Given the description of an element on the screen output the (x, y) to click on. 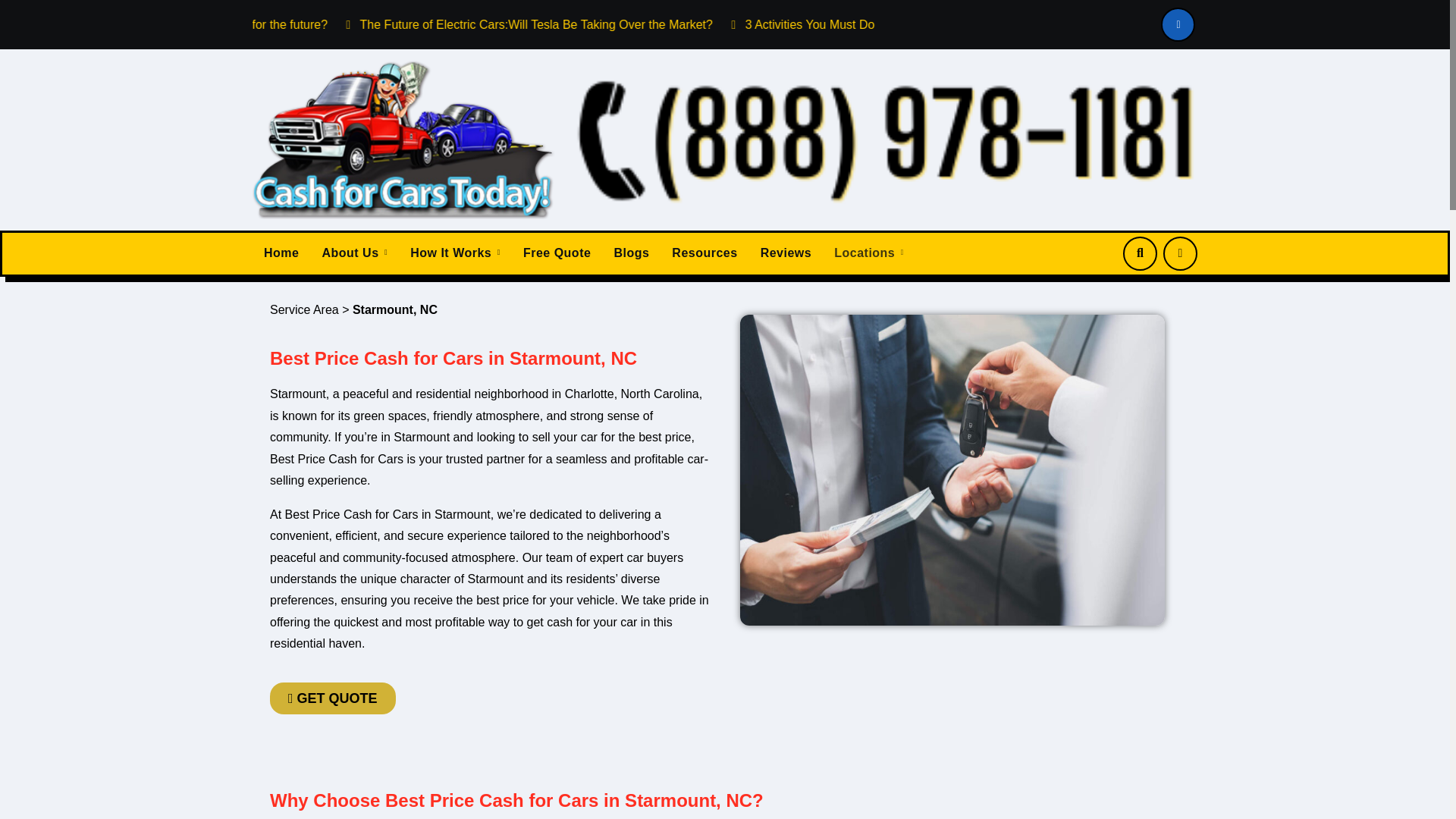
Locations (868, 253)
About Us (354, 253)
Home (280, 253)
Blogs (631, 253)
Resources (704, 253)
Free Quote (557, 253)
Resources (704, 253)
How It Works (455, 253)
Reviews (786, 253)
Reviews (786, 253)
Free Quote (557, 253)
About Us (354, 253)
Locations (868, 253)
How It Works (455, 253)
